Given the description of an element on the screen output the (x, y) to click on. 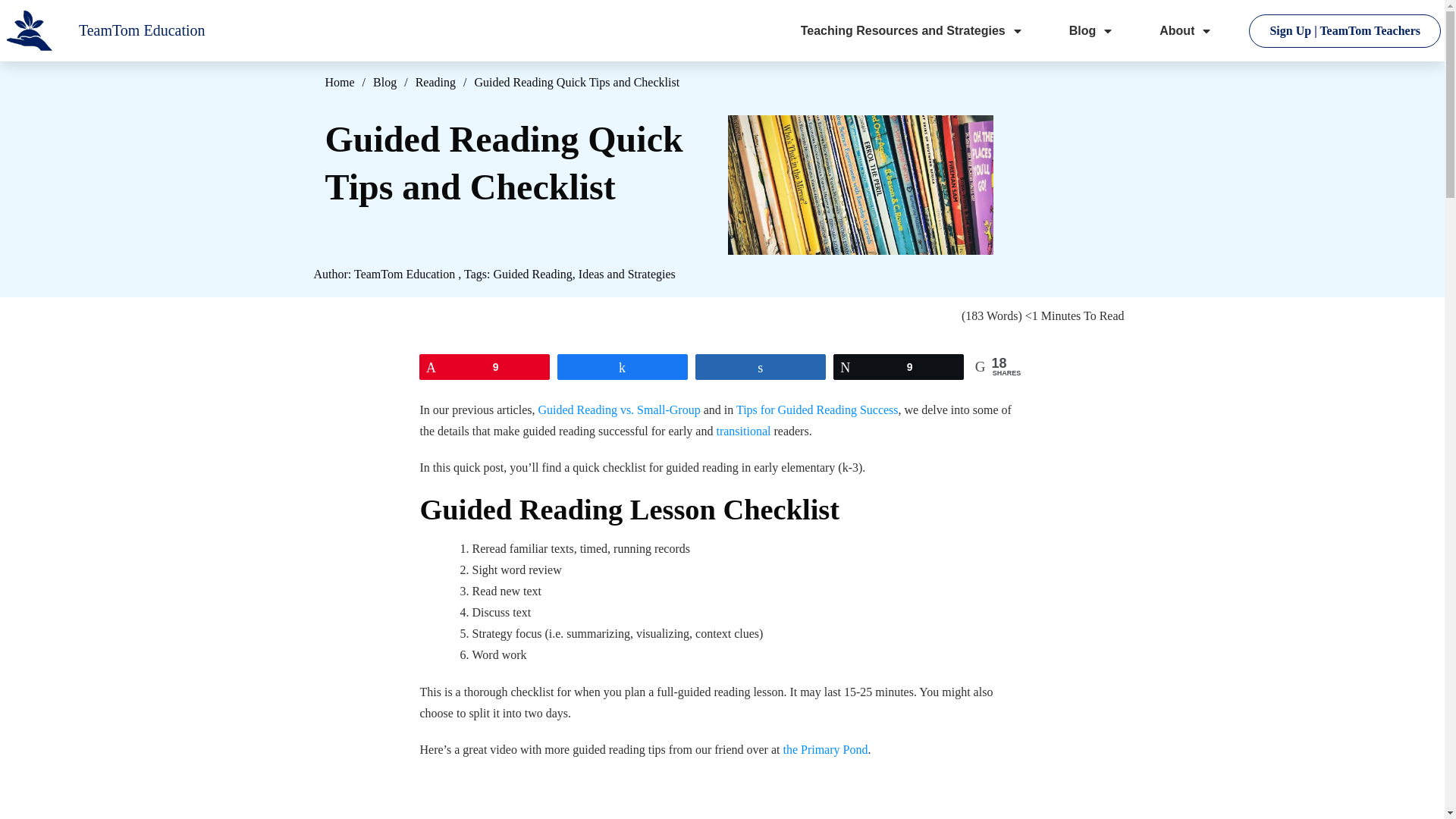
Blog (1091, 30)
About (1185, 30)
Ideas and Strategies (626, 273)
Teaching Resources and Strategies (911, 30)
TeamTom Education (403, 273)
Guided Reading (532, 273)
Guided Reading Quick Tips and Checklist (860, 181)
